Given the description of an element on the screen output the (x, y) to click on. 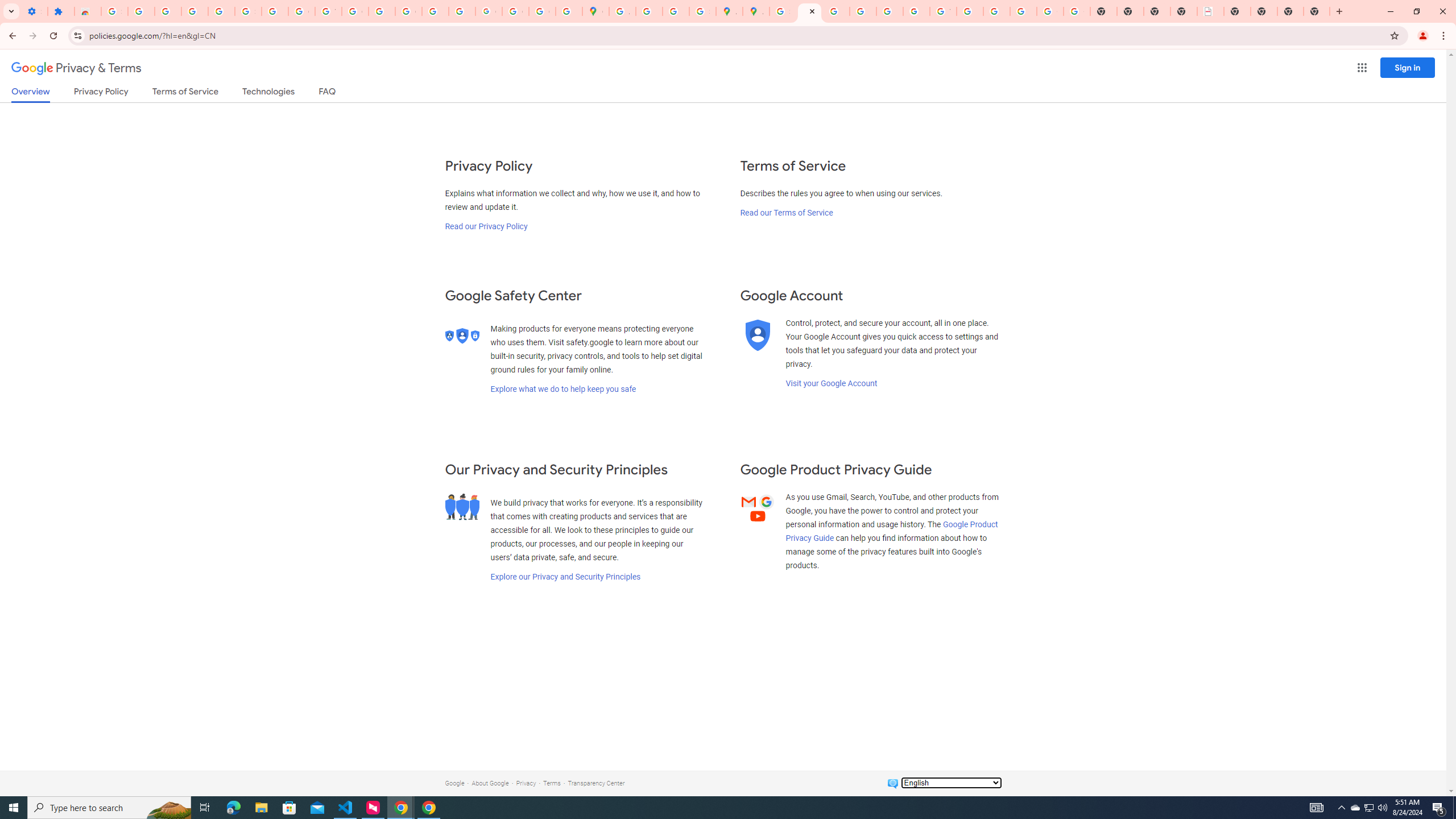
New Tab (1290, 11)
Safety in Our Products - Google Safety Center (702, 11)
Transparency Center (595, 783)
